Given the description of an element on the screen output the (x, y) to click on. 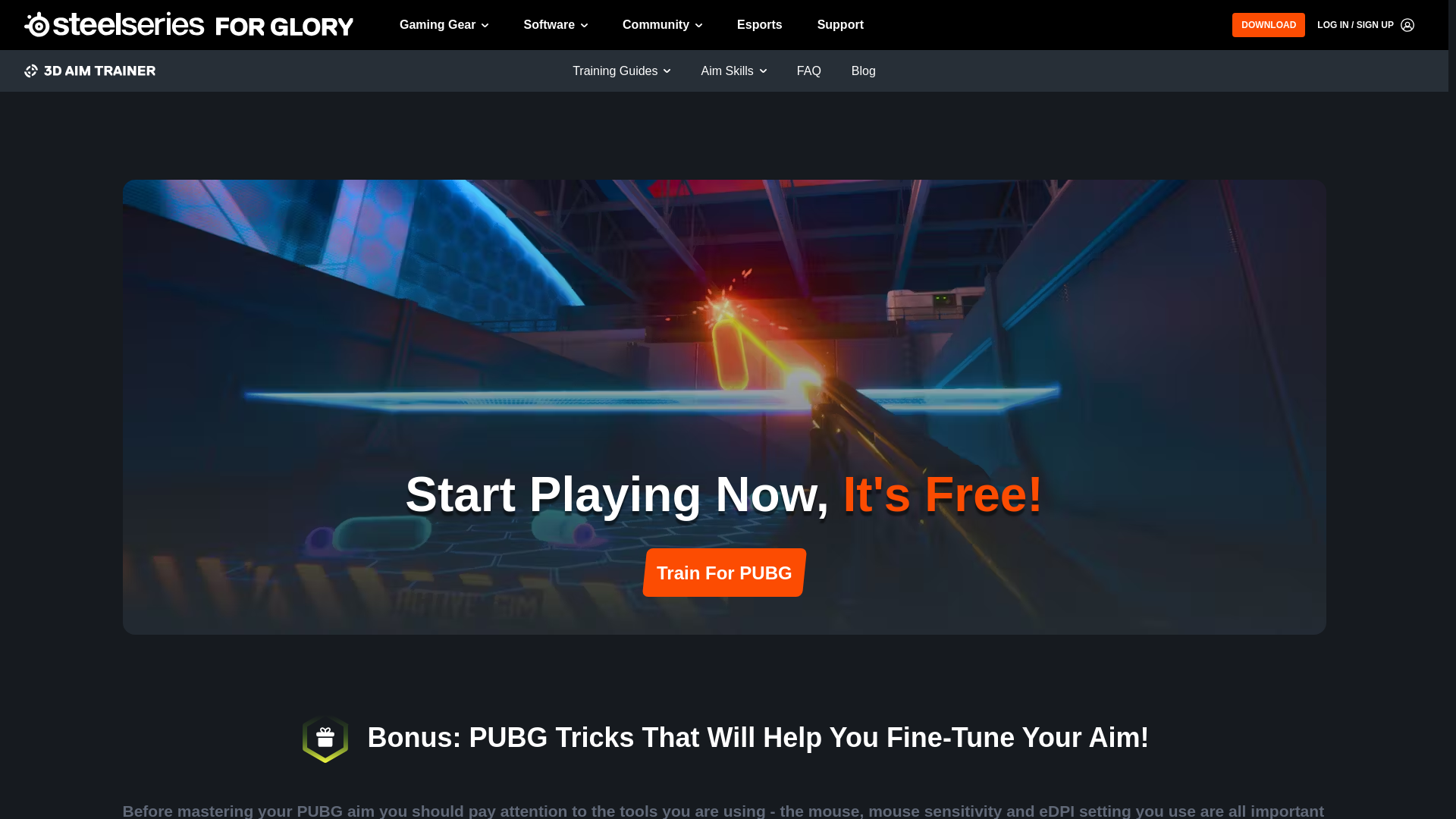
Train For PUBG (722, 572)
